Given the description of an element on the screen output the (x, y) to click on. 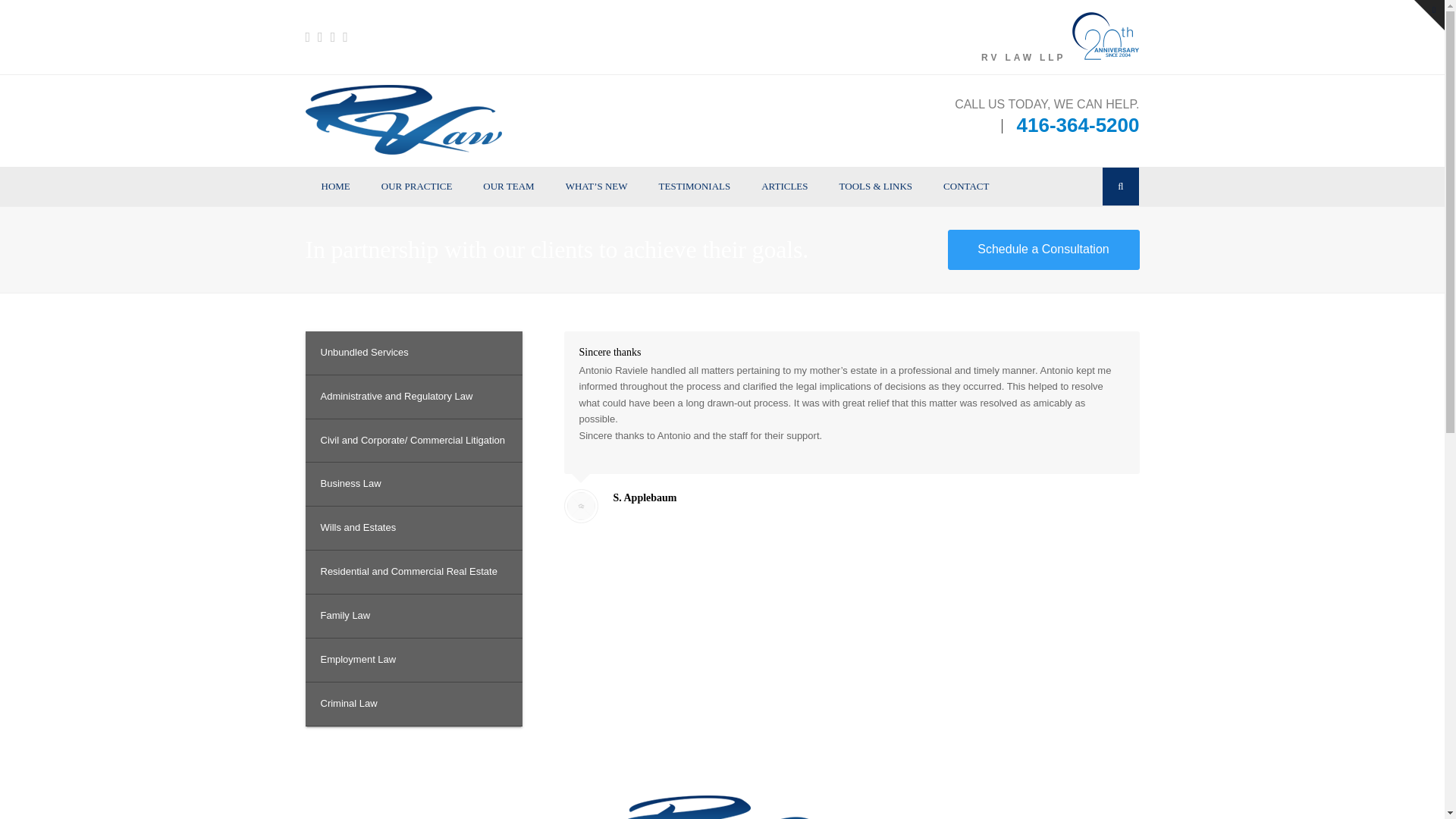
416-364-5200 (1078, 124)
HOME (335, 186)
Criminal Law (412, 704)
Administrative and Regulatory Law (412, 397)
CONTACT (966, 186)
Residential and Commercial Real Estate (412, 572)
TESTIMONIALS (694, 186)
Family Law (412, 616)
OUR TEAM (507, 186)
Employment Law (412, 660)
